Given the description of an element on the screen output the (x, y) to click on. 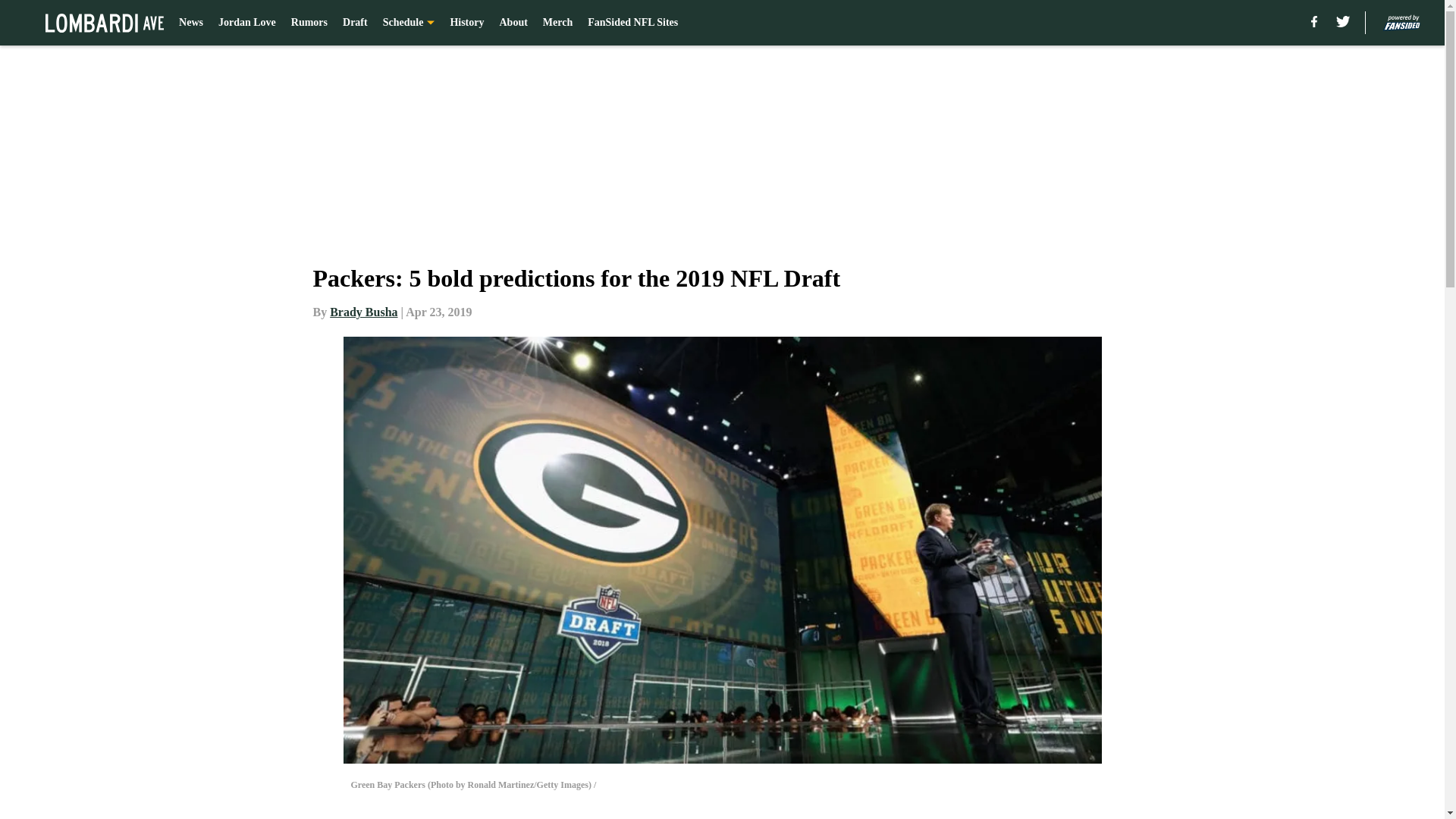
History (466, 22)
FanSided NFL Sites (633, 22)
Draft (355, 22)
Rumors (309, 22)
About (513, 22)
Jordan Love (247, 22)
Merch (557, 22)
Brady Busha (363, 311)
News (191, 22)
